Given the description of an element on the screen output the (x, y) to click on. 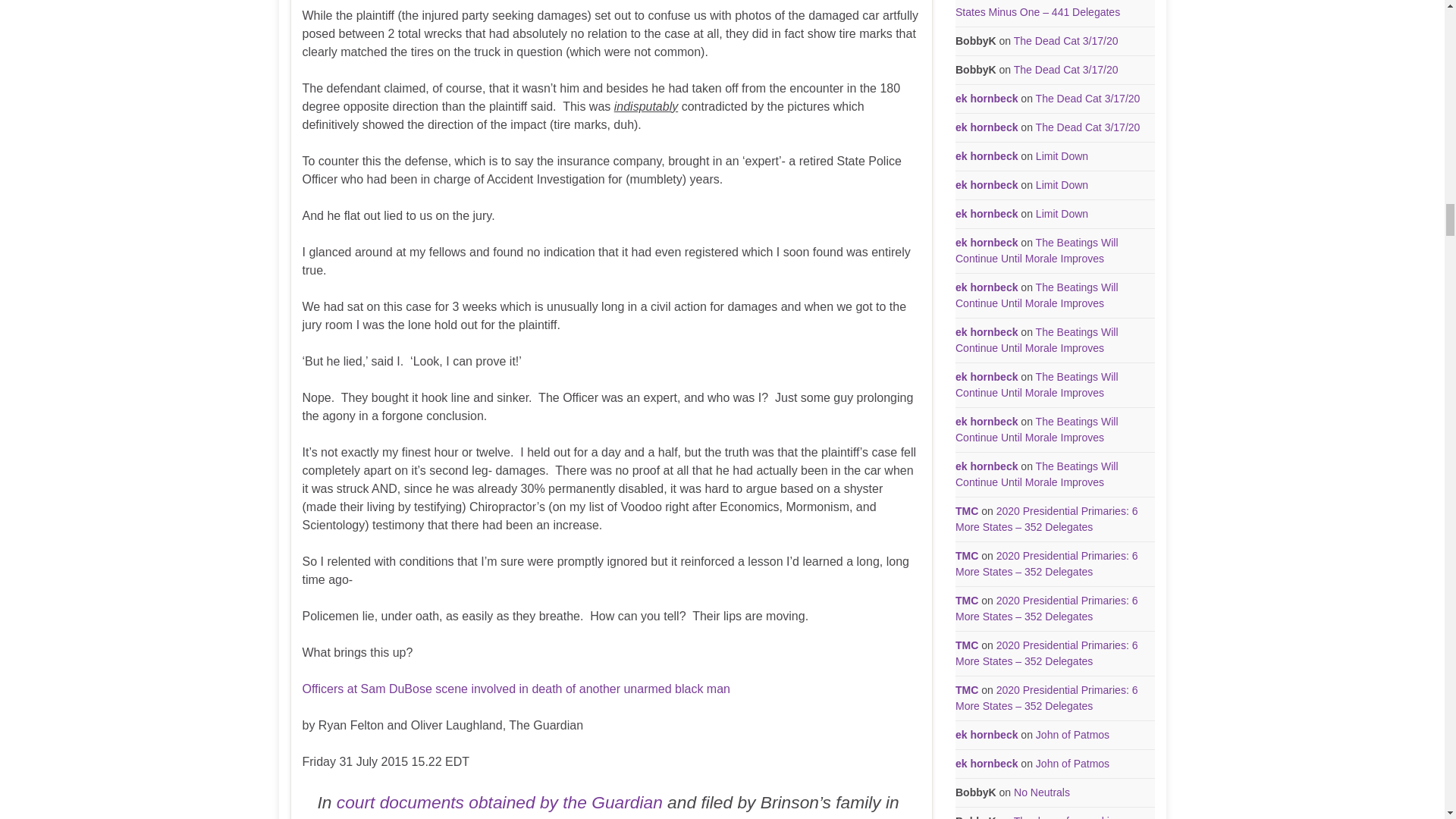
court documents obtained by the Guardian (499, 802)
